Given the description of an element on the screen output the (x, y) to click on. 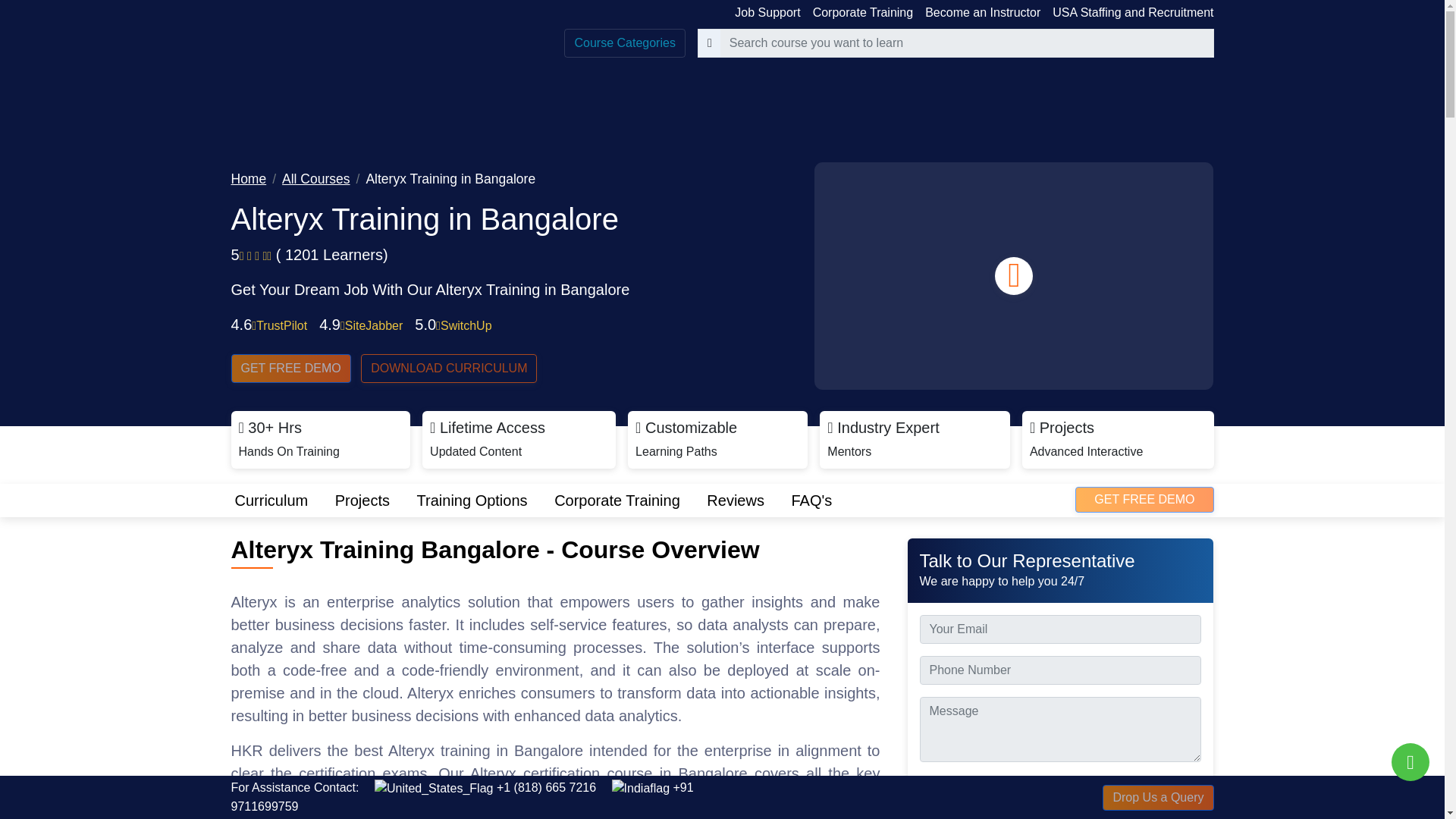
Course Categories (624, 42)
Become an Instructor (982, 11)
USA Staffing and Recruitment (1132, 11)
How can we help you? (1410, 761)
Job Support (767, 11)
on (923, 782)
Corporate Training (863, 11)
